Given the description of an element on the screen output the (x, y) to click on. 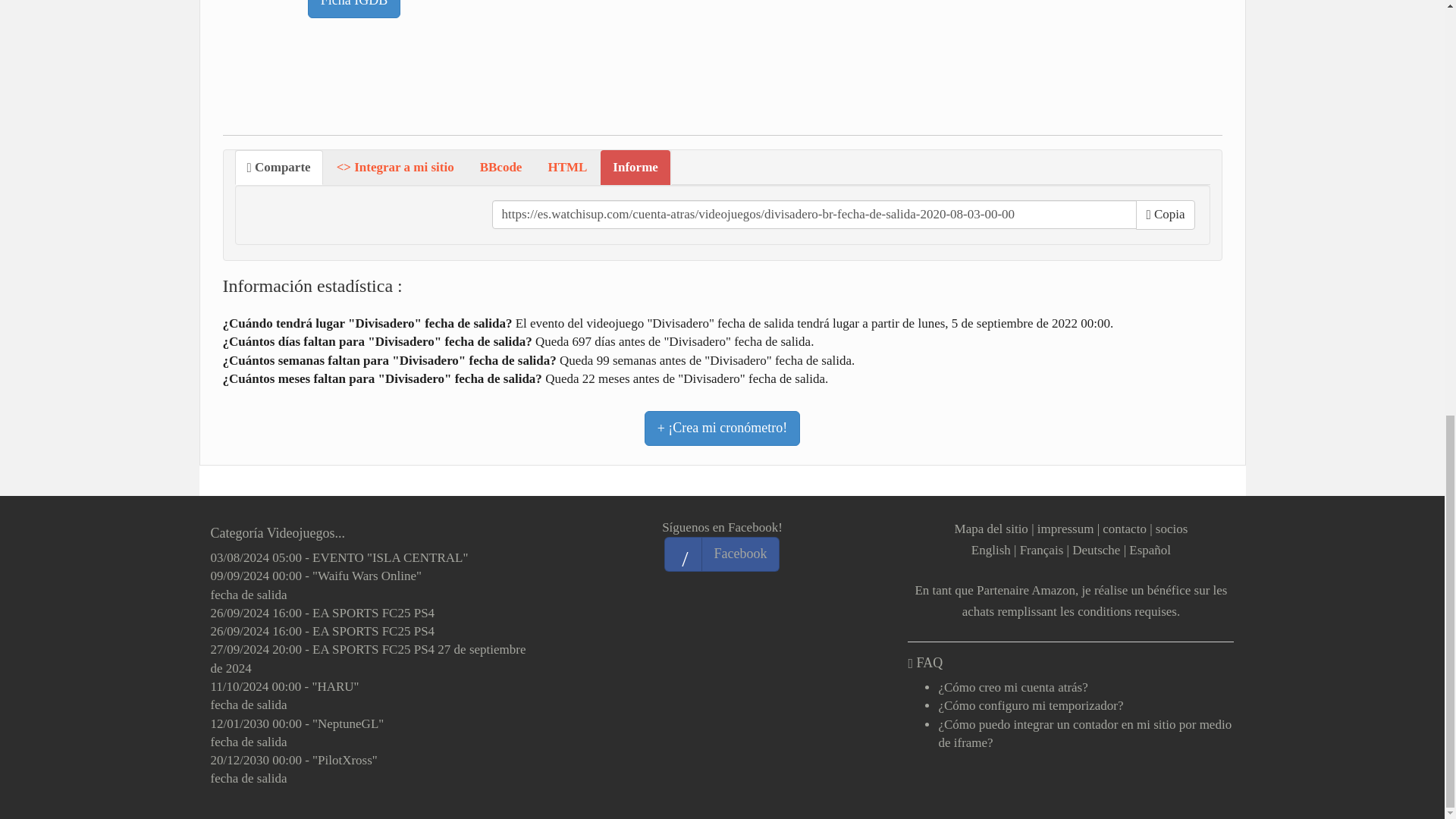
Ficha IGDB (354, 9)
HTML (566, 167)
Informe (634, 167)
BBcode (500, 167)
 Comparte (278, 167)
 Copia (1164, 214)
